Given the description of an element on the screen output the (x, y) to click on. 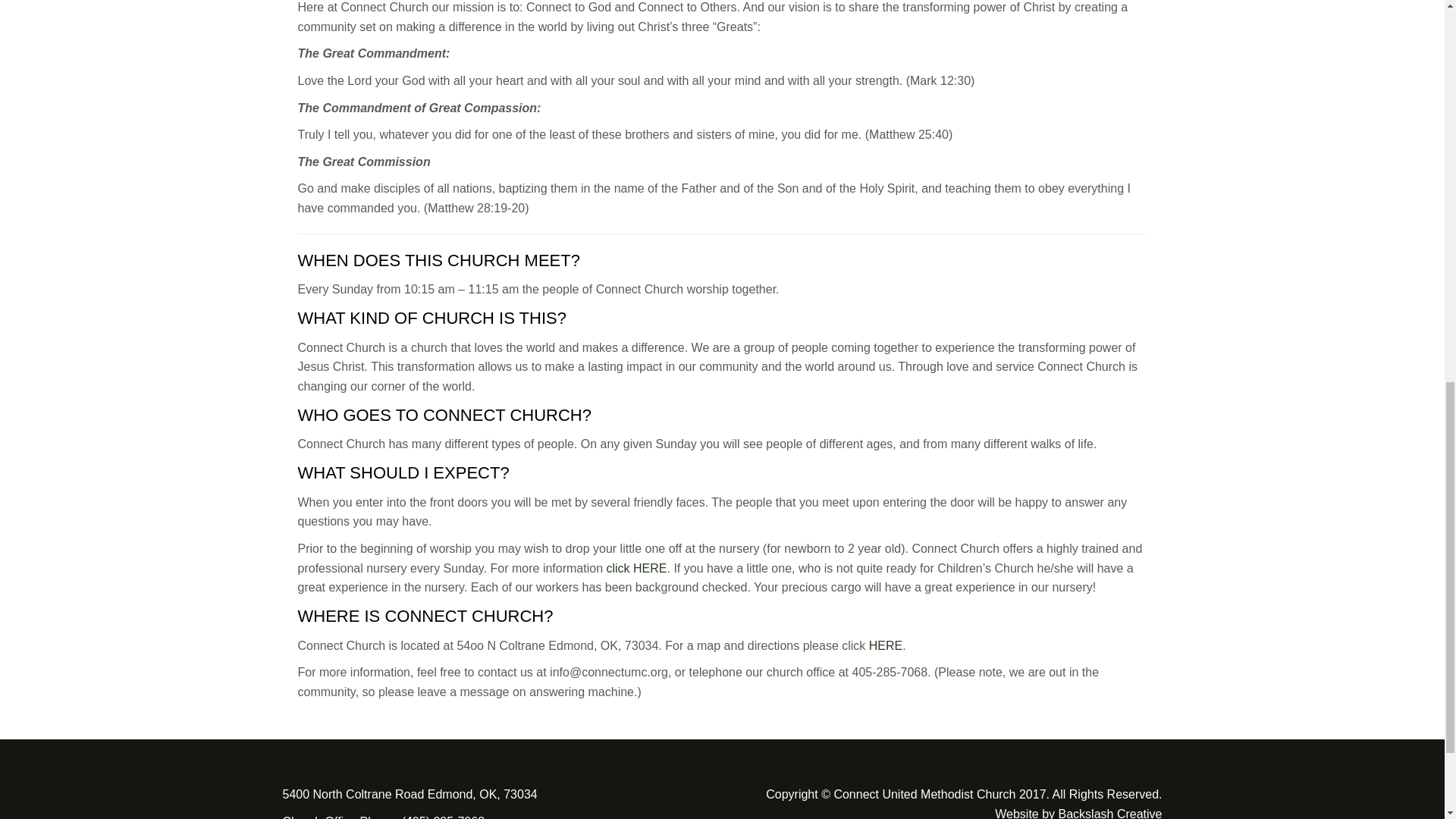
click HERE (636, 567)
5400 North Coltrane Road Edmond, OK, 73034 (409, 793)
Backslash Creative (1109, 813)
HERE (885, 645)
Children (636, 567)
